Given the description of an element on the screen output the (x, y) to click on. 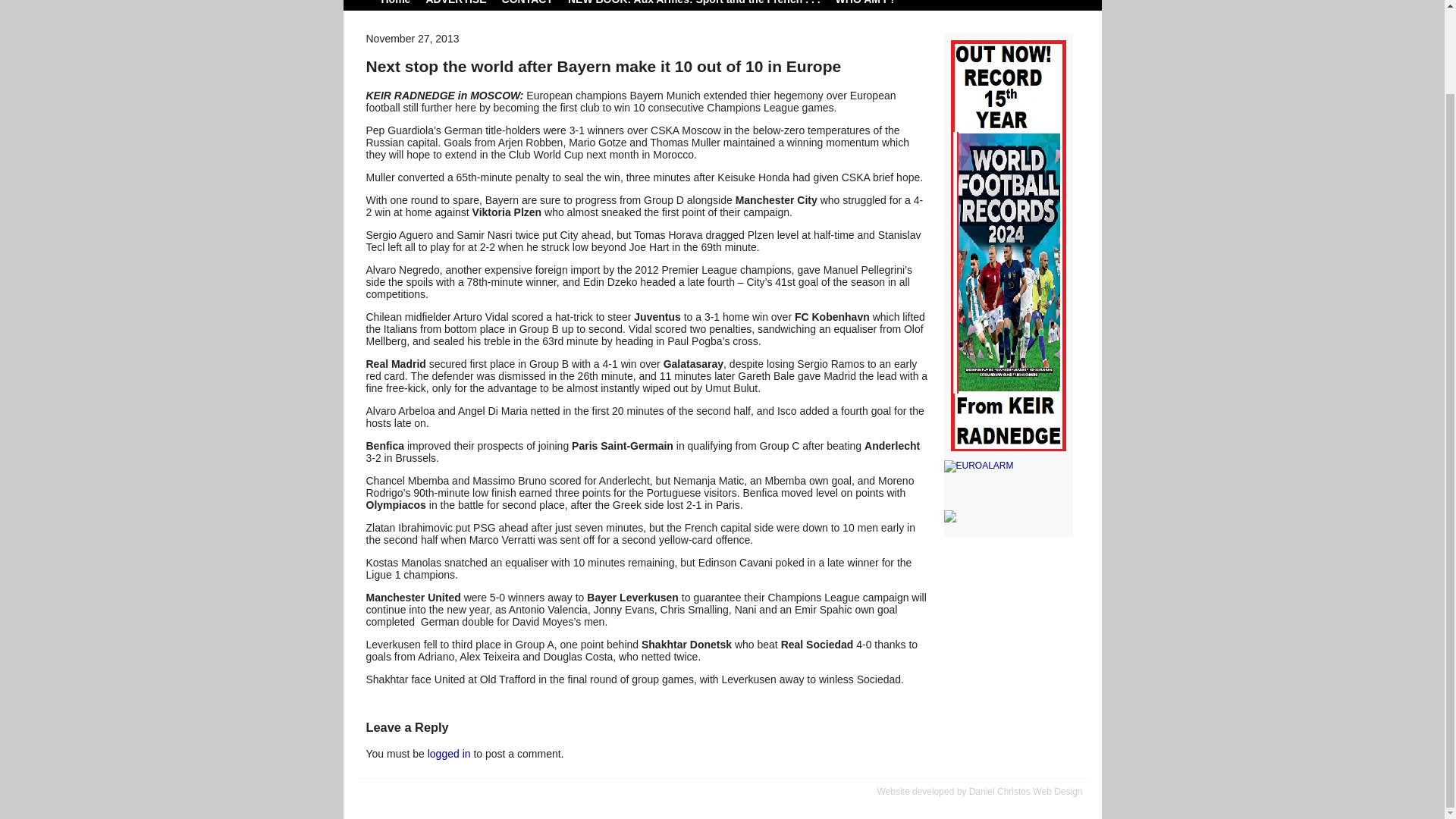
Home (395, 2)
ADVERTISE (455, 2)
logged in (449, 753)
WHO AM I ? (865, 2)
CONTACT (527, 2)
EUROALARM (1007, 466)
NEW BOOK: Aux Armes: Sport and the French . . . (694, 2)
Daniel Christos Web Design (1026, 791)
